Given the description of an element on the screen output the (x, y) to click on. 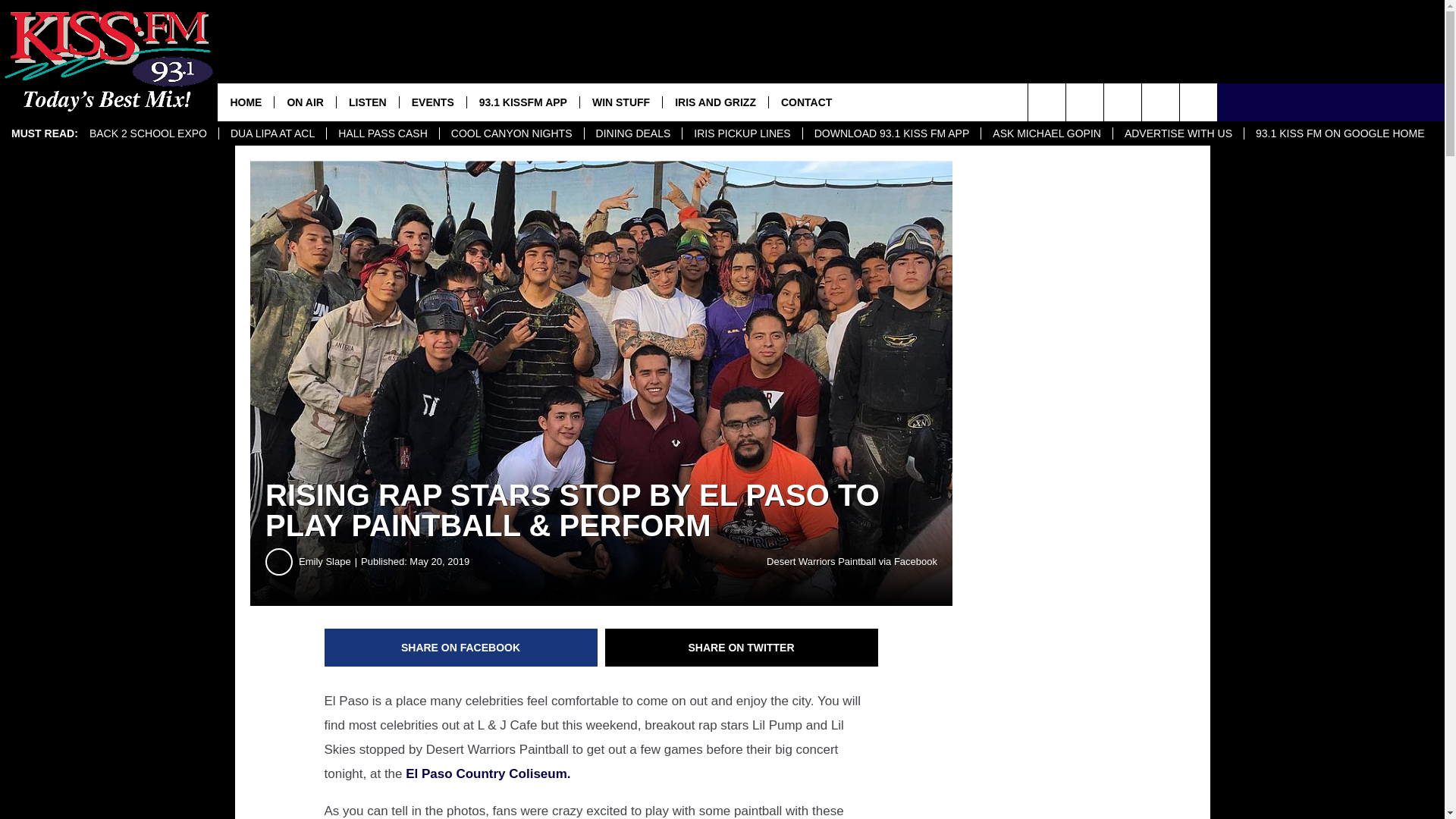
93.1 KISS FM ON GOOGLE HOME (1339, 133)
Share on Facebook (460, 647)
WIN STUFF (620, 102)
HOME (244, 102)
COOL CANYON NIGHTS (511, 133)
DUA LIPA AT ACL (272, 133)
HALL PASS CASH (382, 133)
DOWNLOAD 93.1 KISS FM APP (891, 133)
LISTEN (367, 102)
IRIS AND GRIZZ (715, 102)
BACK 2 SCHOOL EXPO (148, 133)
IRIS PICKUP LINES (741, 133)
Share on Twitter (741, 647)
93.1 KISSFM APP (522, 102)
ASK MICHAEL GOPIN (1045, 133)
